Given the description of an element on the screen output the (x, y) to click on. 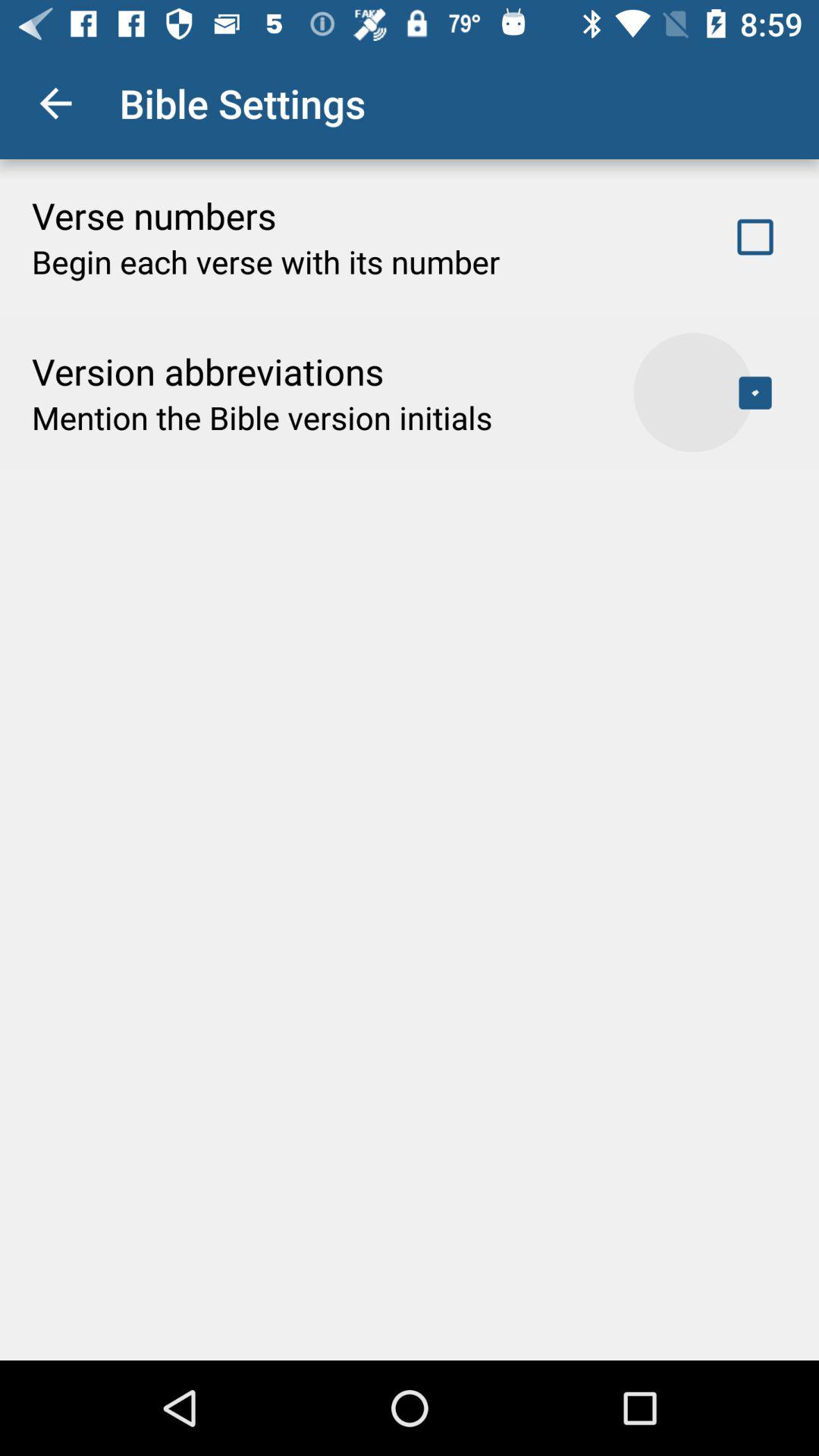
launch icon next to bible settings app (55, 103)
